Given the description of an element on the screen output the (x, y) to click on. 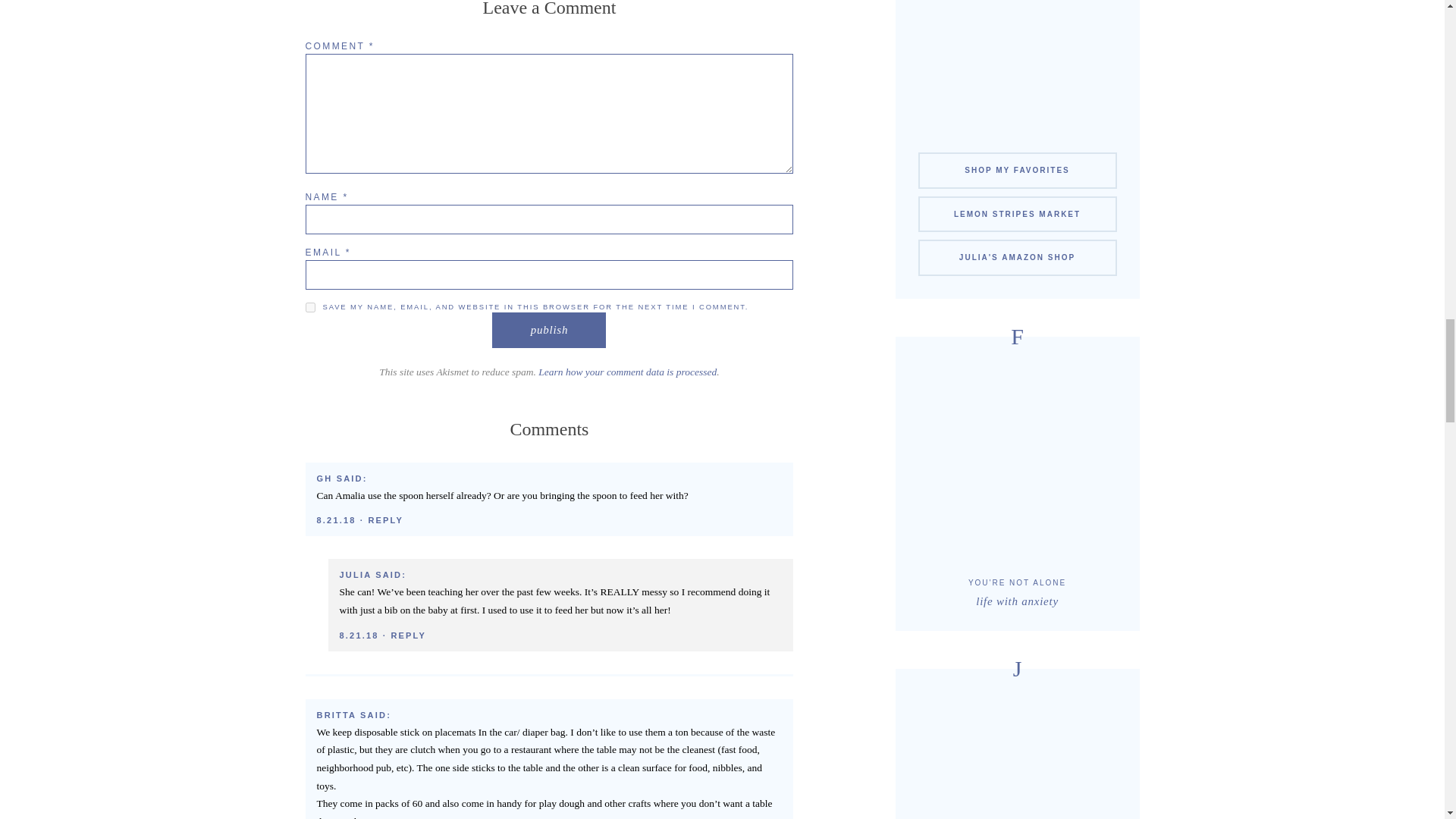
yes (309, 307)
Publish (548, 330)
